Given the description of an element on the screen output the (x, y) to click on. 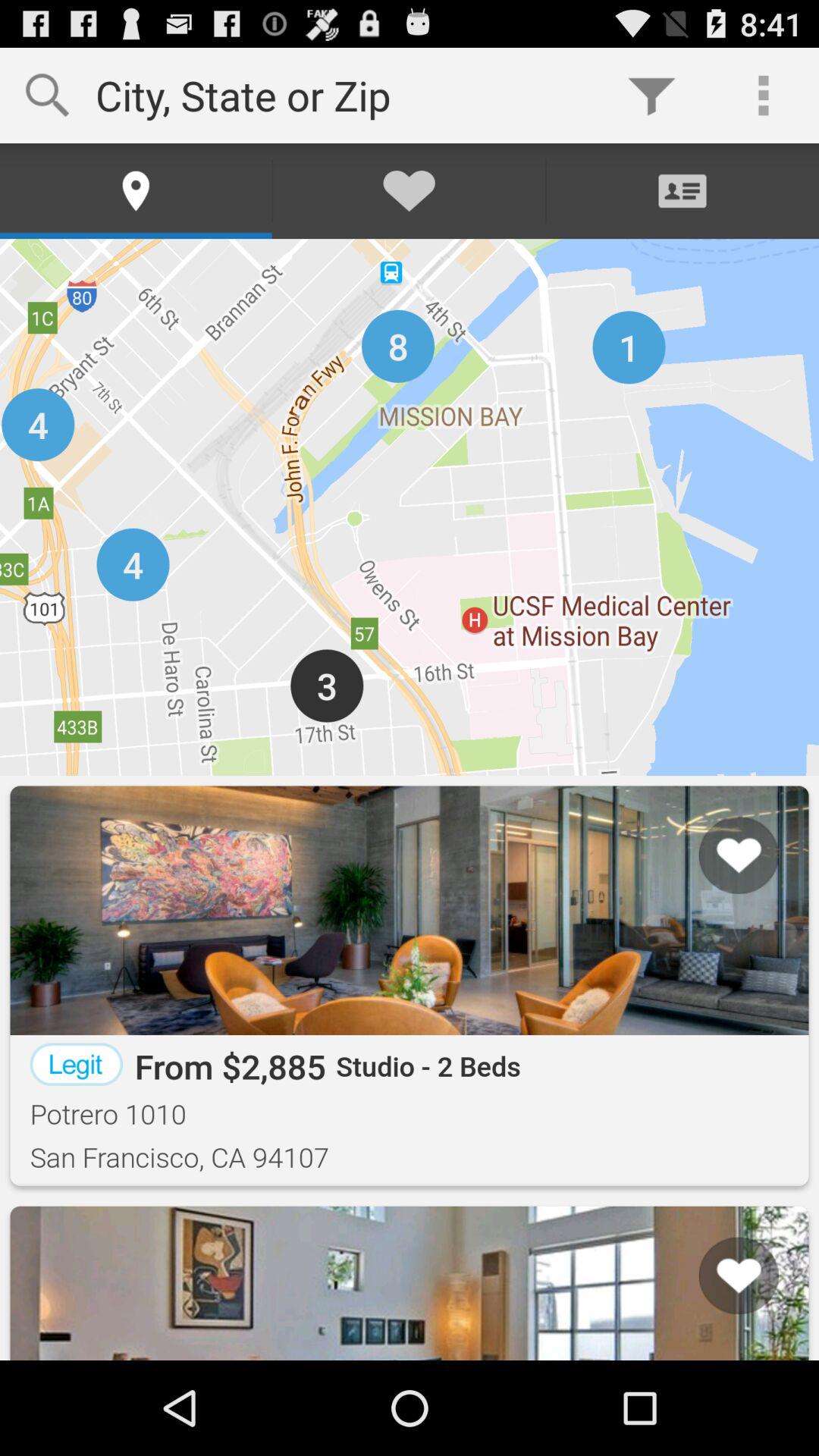
press the item above the potrero 1010 item (76, 1064)
